Given the description of an element on the screen output the (x, y) to click on. 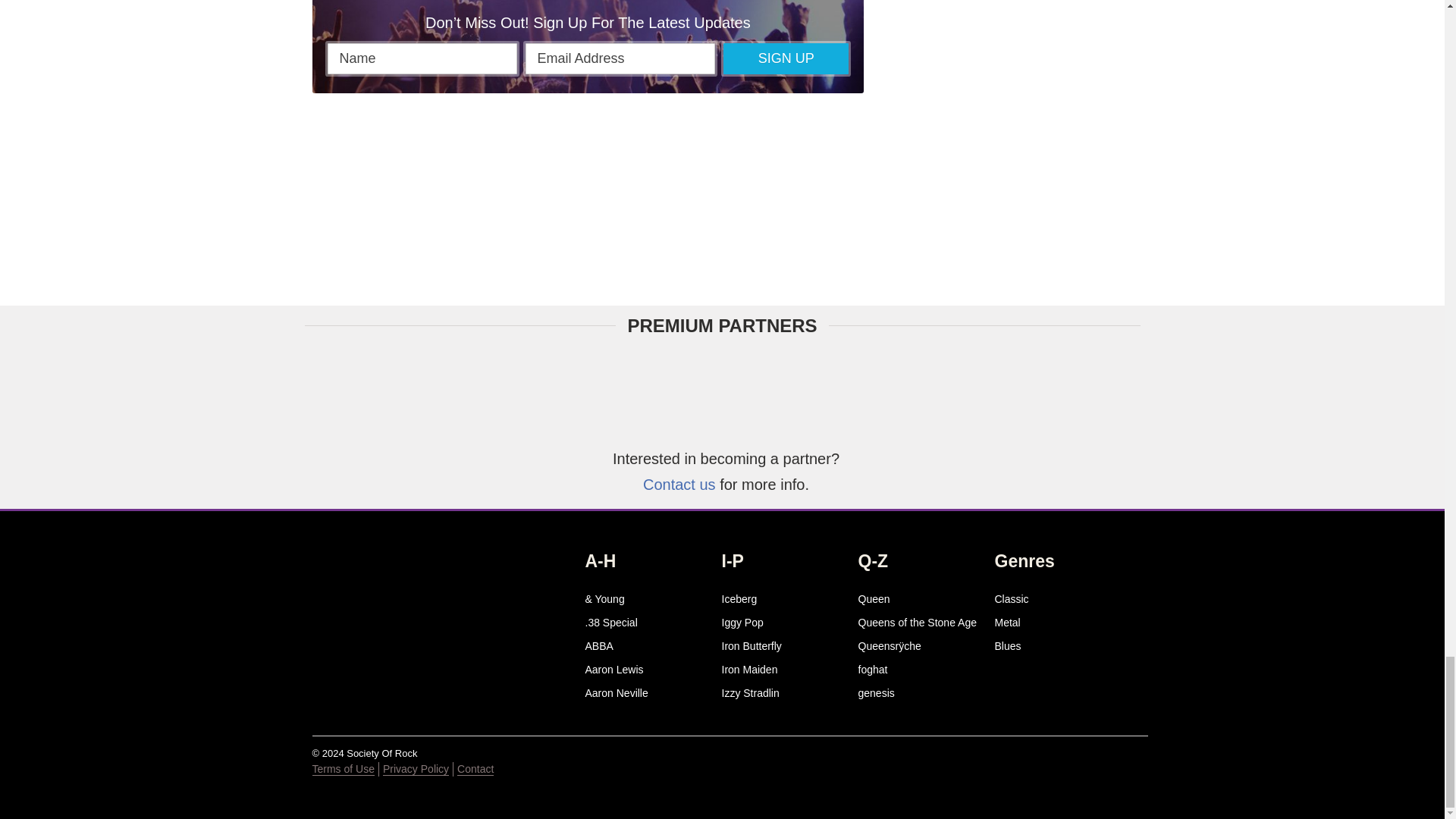
Sign Up (785, 58)
